Given the description of an element on the screen output the (x, y) to click on. 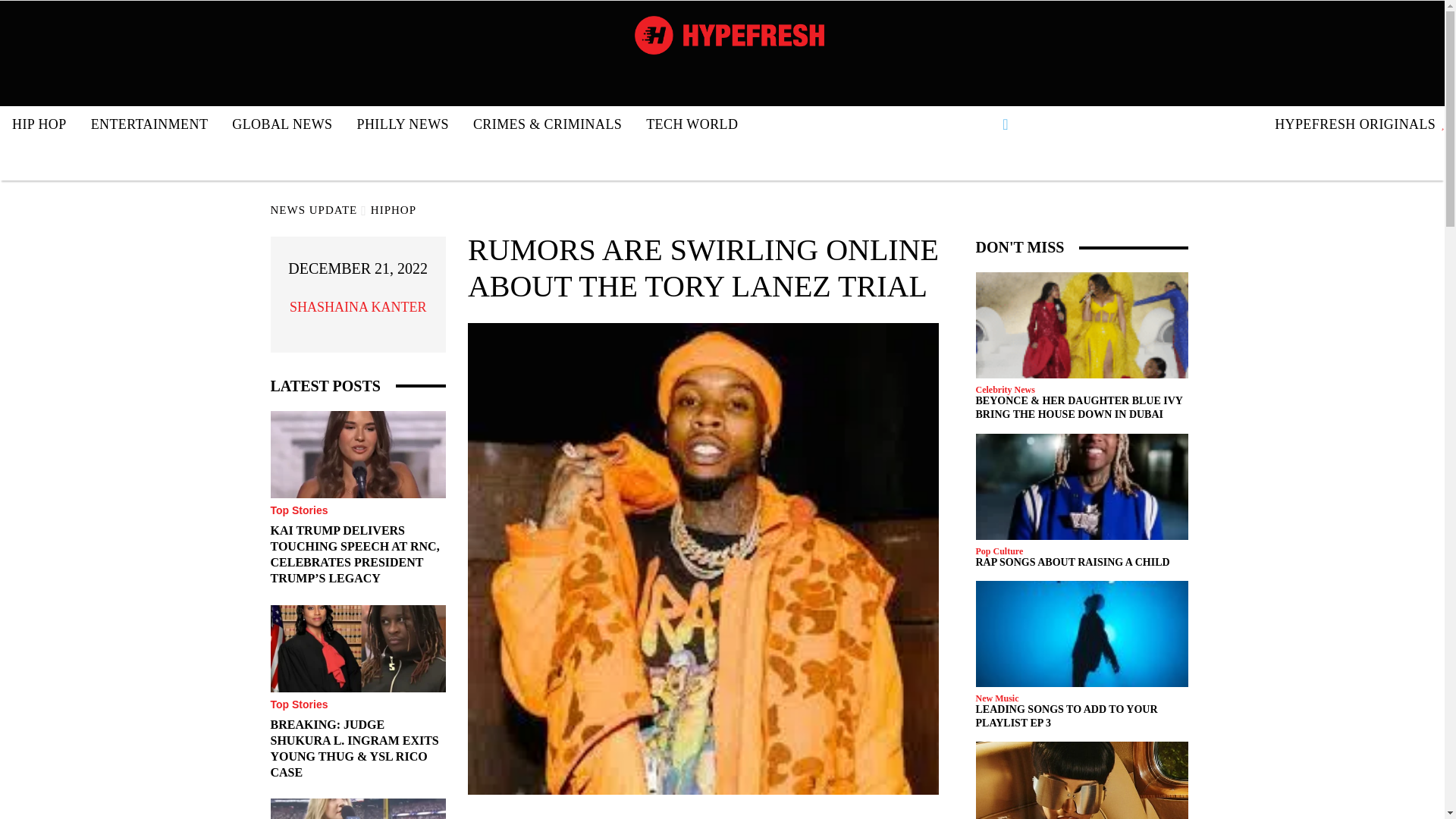
HIP HOP (39, 124)
